Given the description of an element on the screen output the (x, y) to click on. 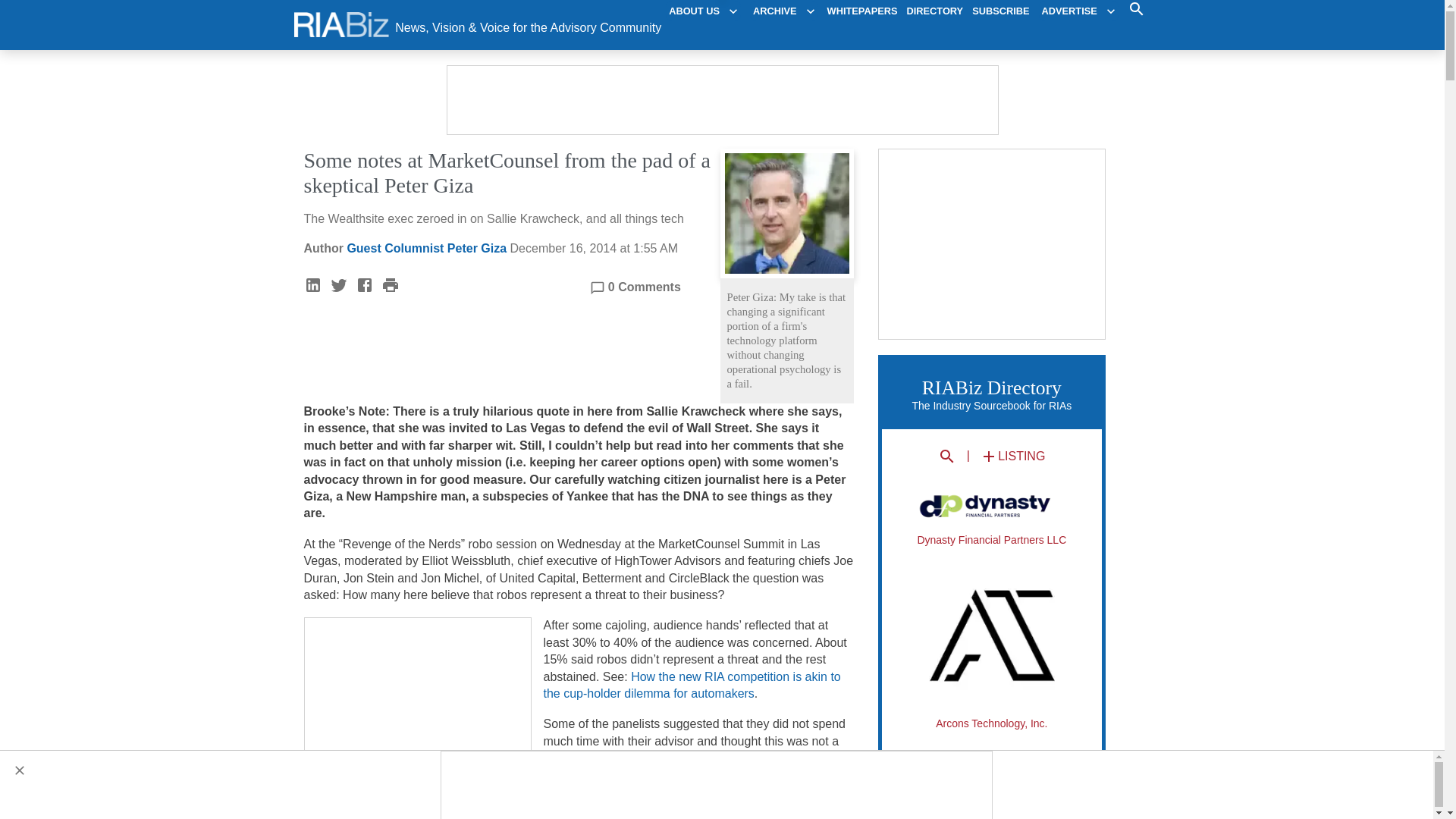
ABOUT US (703, 10)
3rd party ad content (418, 712)
SUBSCRIBE (1000, 10)
DIRECTORY (935, 10)
3rd party ad content (722, 100)
WHITEPAPERS (862, 10)
ADVERTISE (1078, 10)
3rd party ad content (992, 244)
Guest Columnist Peter Giza (426, 247)
ARCHIVE (783, 10)
3rd party ad content (716, 785)
